Given the description of an element on the screen output the (x, y) to click on. 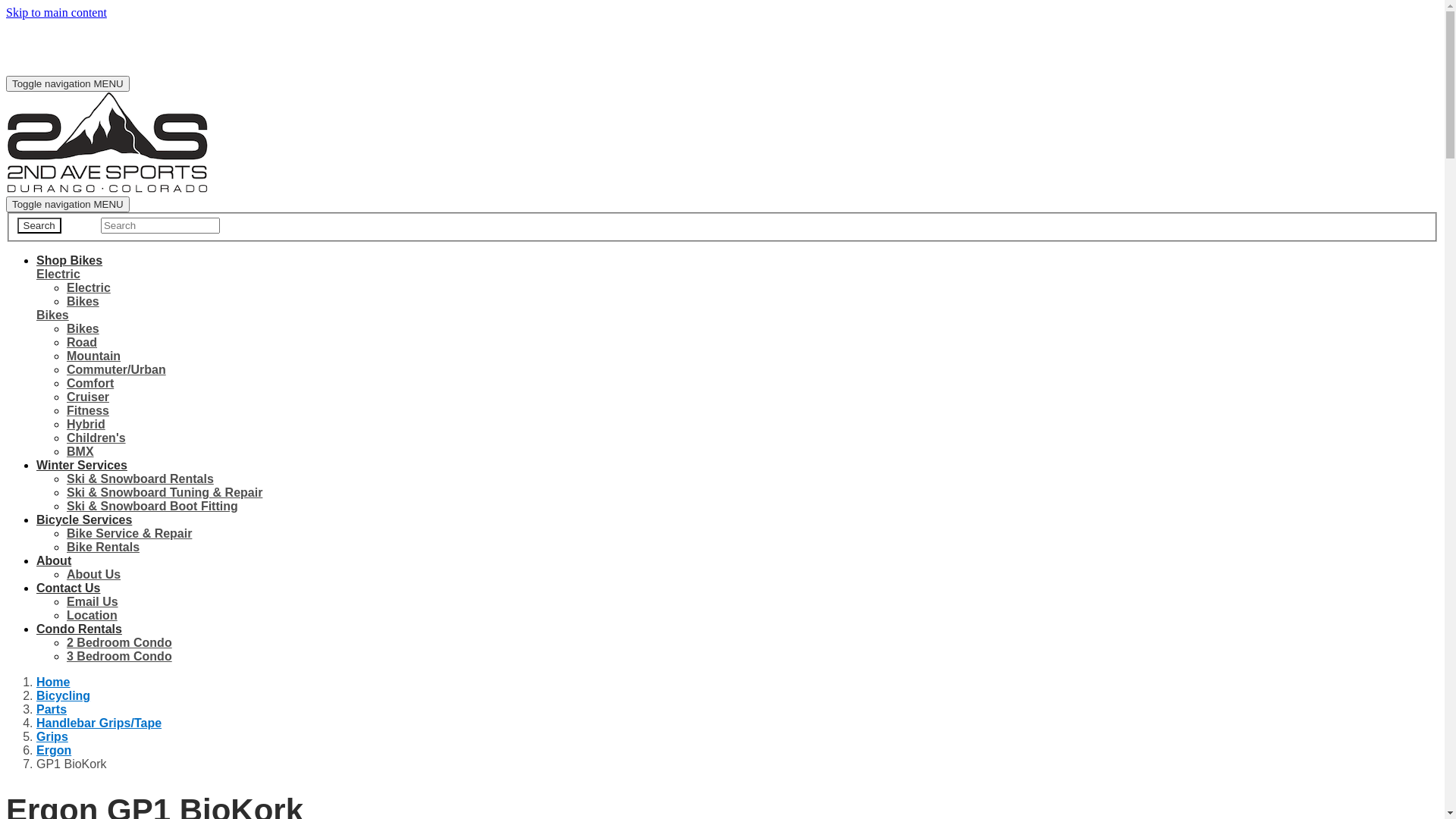
Search Element type: text (38, 225)
Store Store Element type: text (64, 59)
Mountain Element type: text (93, 355)
Contact Us Element type: text (68, 587)
BMX Element type: text (80, 451)
About Us Element type: text (93, 573)
Skip to main content Element type: text (56, 12)
Handlebar Grips/Tape Element type: text (98, 722)
Bike Service & Repair Element type: text (128, 533)
Cruiser Element type: text (87, 396)
Electric Element type: text (88, 287)
Children's Element type: text (95, 437)
Bicycle Services Element type: text (83, 519)
Electric Element type: text (58, 273)
Bikes Element type: text (82, 300)
Toggle navigation MENU Element type: text (67, 204)
Comfort Element type: text (89, 382)
Location Element type: text (91, 614)
About Element type: text (53, 560)
Shop Bikes Element type: text (69, 260)
Email Us Element type: text (92, 601)
Winter Services Element type: text (81, 464)
Bicycling Element type: text (63, 695)
Road Element type: text (81, 341)
Search Element type: hover (159, 225)
2 Bedroom Condo Element type: text (119, 642)
Parts Element type: text (51, 708)
Bikes Element type: text (52, 314)
Hybrid Element type: text (85, 423)
Bikes Element type: text (82, 328)
Ski & Snowboard Rentals Element type: text (139, 478)
3 Bedroom Condo Element type: text (119, 655)
2nd Ave Sports Home Page Element type: hover (108, 190)
Grips Element type: text (52, 736)
Ergon Element type: text (53, 749)
Ski & Snowboard Boot Fitting Element type: text (152, 505)
Home Element type: text (52, 681)
Fitness Element type: text (87, 410)
Toggle navigation MENU Element type: text (67, 83)
Condo Rentals Element type: text (79, 628)
Ski & Snowboard Tuning & Repair Element type: text (164, 492)
Bike Rentals Element type: text (102, 546)
Commuter/Urban Element type: text (116, 369)
